Given the description of an element on the screen output the (x, y) to click on. 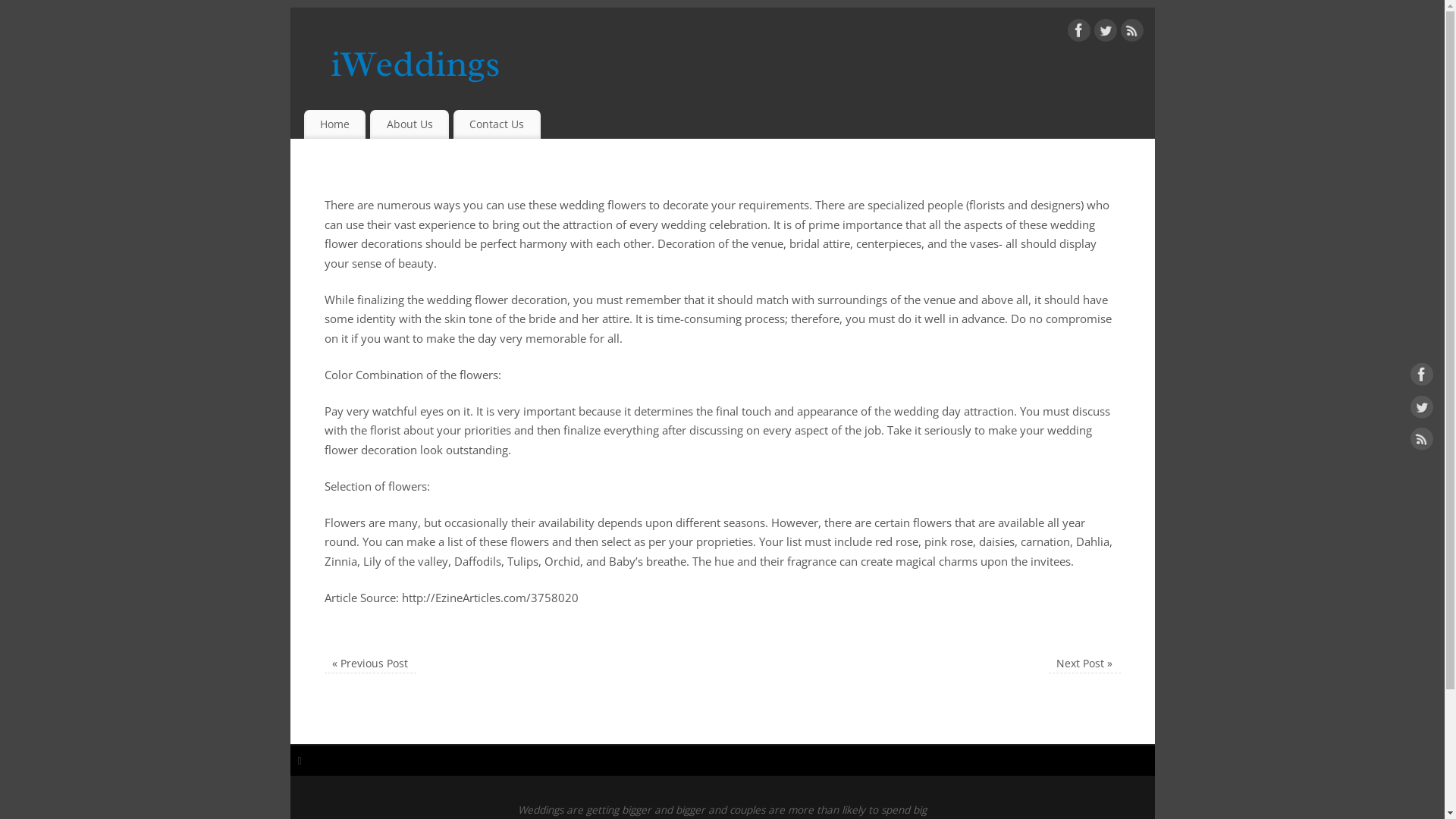
Twitter Element type: hover (1421, 409)
Contact Us Element type: text (496, 123)
Facebook Element type: hover (1421, 377)
Home Element type: text (334, 123)
Facebook Element type: hover (1078, 32)
RSS Element type: hover (1421, 441)
About Us Element type: text (409, 123)
RSS Element type: hover (1131, 32)
Twitter Element type: hover (1104, 32)
